Given the description of an element on the screen output the (x, y) to click on. 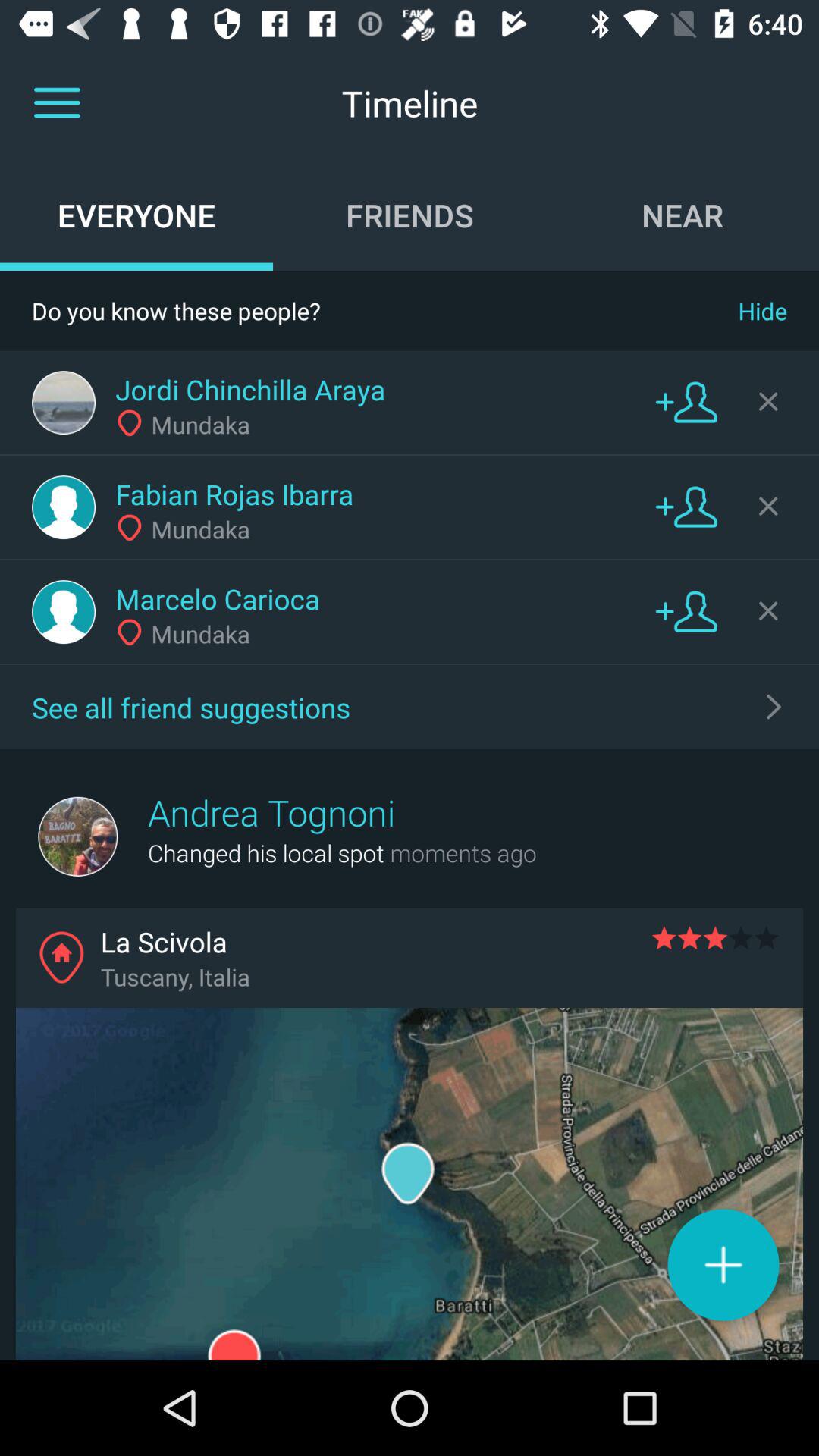
swipe to andrea tognoni (271, 812)
